Given the description of an element on the screen output the (x, y) to click on. 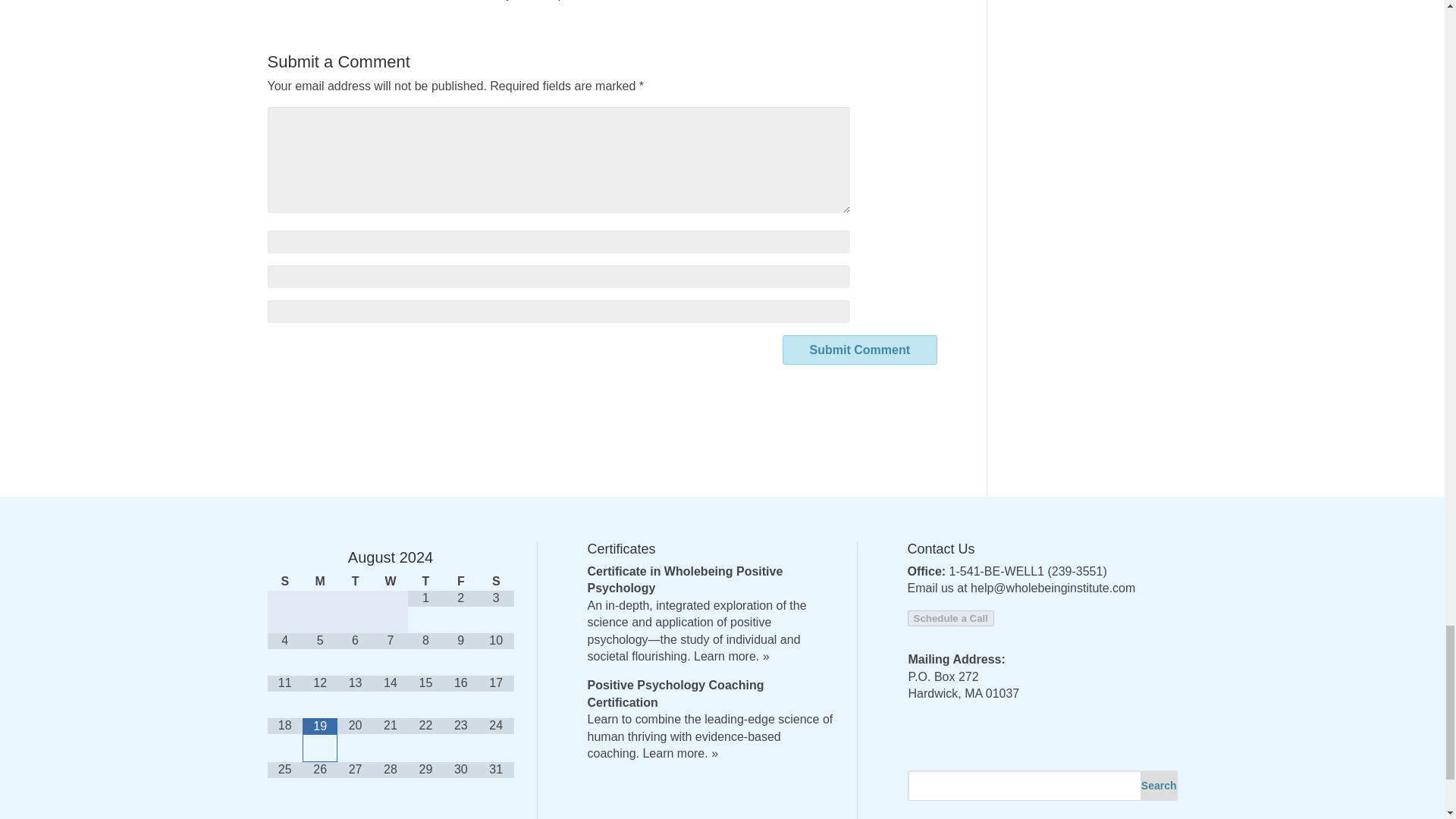
Schedule a Call (950, 617)
email us (441, 0)
Certificate in Wholebeing Positive Psychology (684, 579)
Submit Comment (860, 349)
Schedule a Call (950, 618)
Submit Comment (860, 349)
Positive Psychology Coaching Certification (674, 693)
Search (1158, 785)
Search (1158, 785)
